Given the description of an element on the screen output the (x, y) to click on. 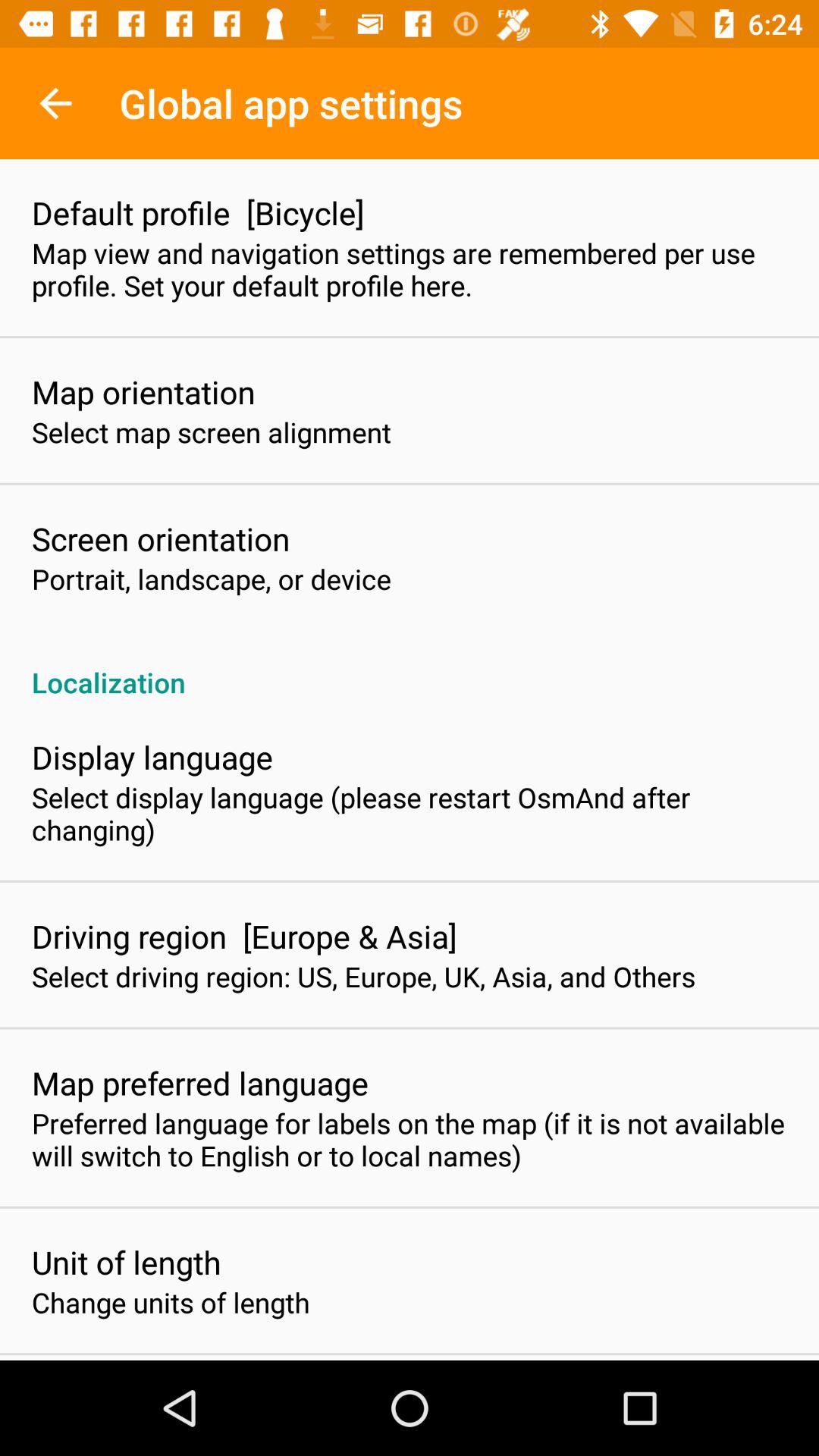
swipe to map orientation (143, 391)
